Given the description of an element on the screen output the (x, y) to click on. 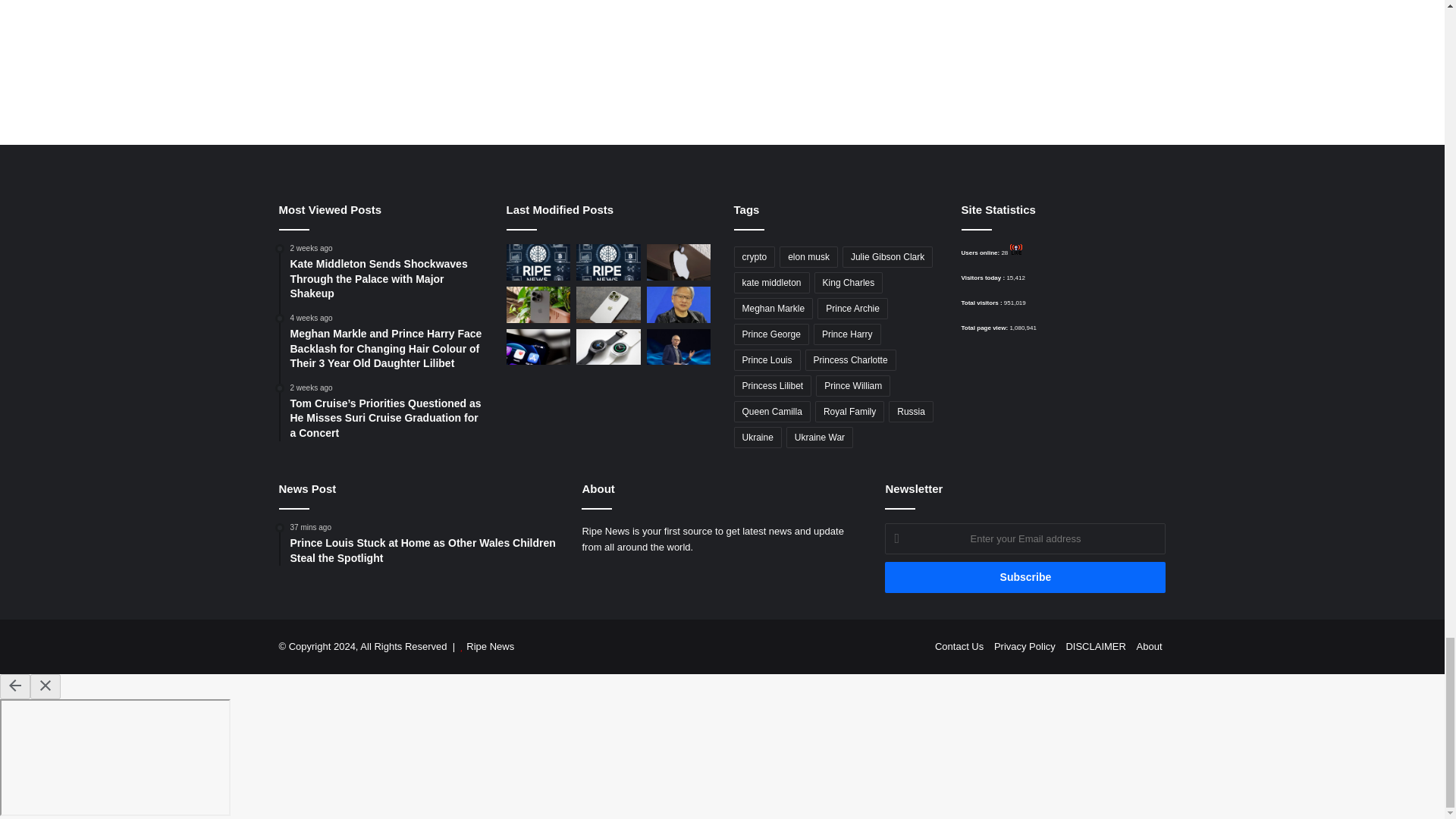
Subscribe (1025, 576)
